Given the description of an element on the screen output the (x, y) to click on. 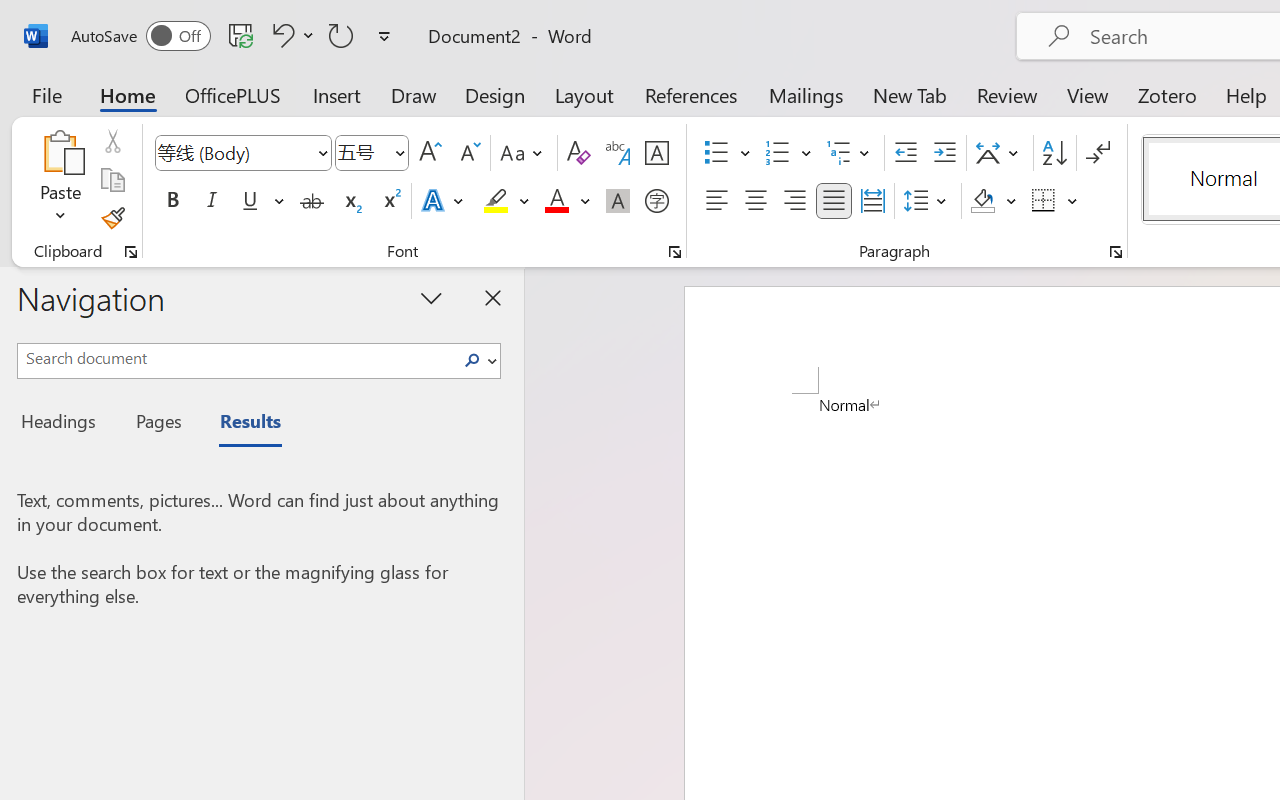
Pages (156, 424)
OfficePLUS (233, 94)
More Options (1073, 201)
Phonetic Guide... (618, 153)
Grow Font (430, 153)
Align Right (794, 201)
Font... (675, 252)
References (690, 94)
Paragraph... (1115, 252)
Search document (236, 358)
